Given the description of an element on the screen output the (x, y) to click on. 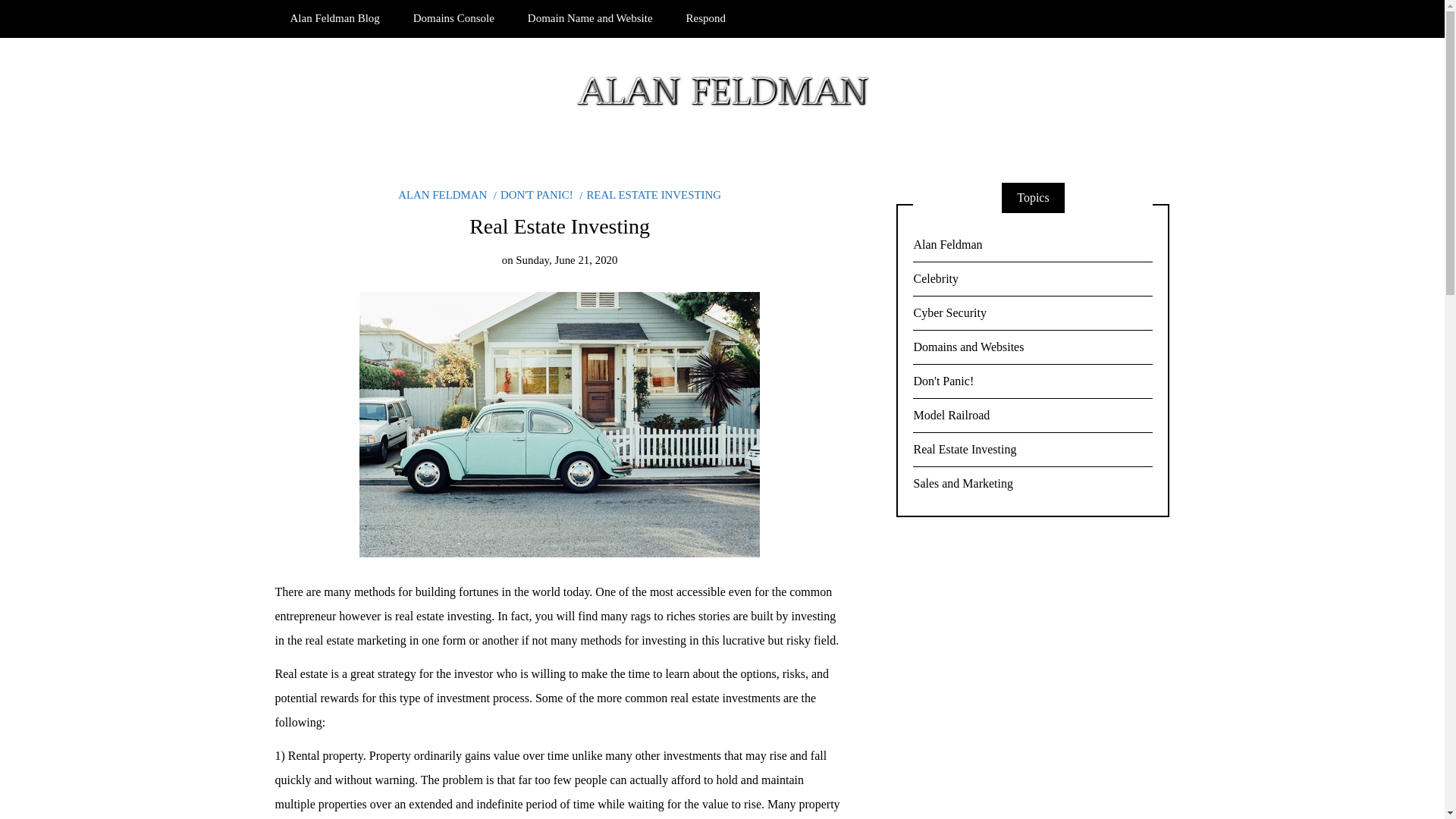
Respond (706, 18)
Domains Console (453, 18)
Model Railroad (1032, 415)
DON'T PANIC! (533, 194)
Sunday, June 21, 2020 (566, 259)
Permalink to: "Real Estate Investing" (559, 422)
Alan Feldman Blog (334, 18)
REAL ESTATE INVESTING (649, 194)
Don't Panic! (1032, 381)
Domain Name and Website (590, 18)
